Given the description of an element on the screen output the (x, y) to click on. 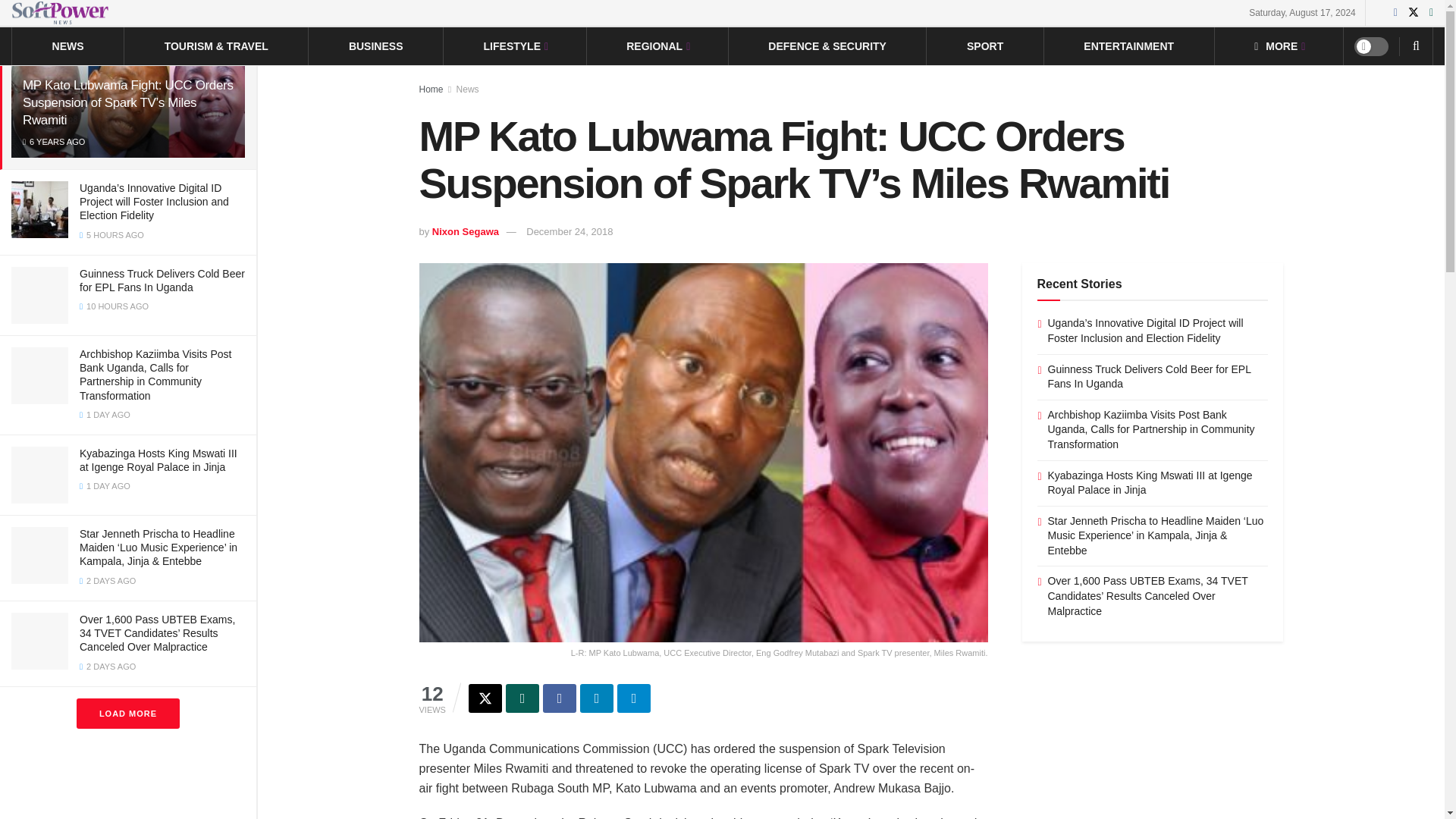
SPORT (984, 46)
BUSINESS (376, 46)
LIFESTYLE (515, 46)
REGIONAL (656, 46)
NEWS (68, 46)
MORE (1278, 46)
ENTERTAINMENT (1128, 46)
LOAD MORE (128, 713)
Guinness Truck Delivers Cold Beer for EPL Fans In Uganda (162, 280)
